Given the description of an element on the screen output the (x, y) to click on. 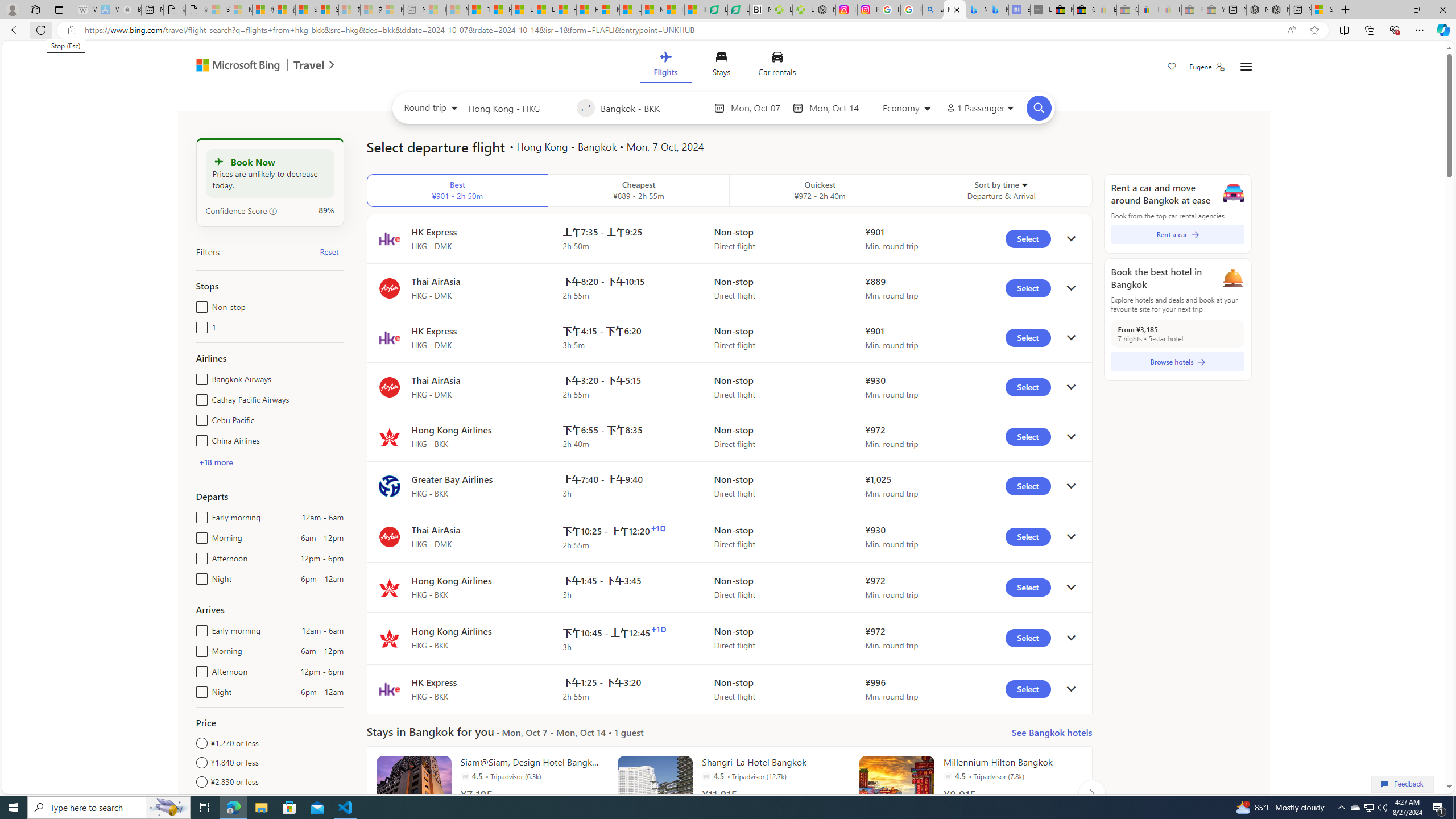
New tab (1300, 9)
Flight logo (389, 689)
Microsoft account | Account Checkup - Sleeping (392, 9)
Microsoft Bing Travel - Shangri-La Hotel Bangkok (997, 9)
Car rentals (777, 65)
